Given the description of an element on the screen output the (x, y) to click on. 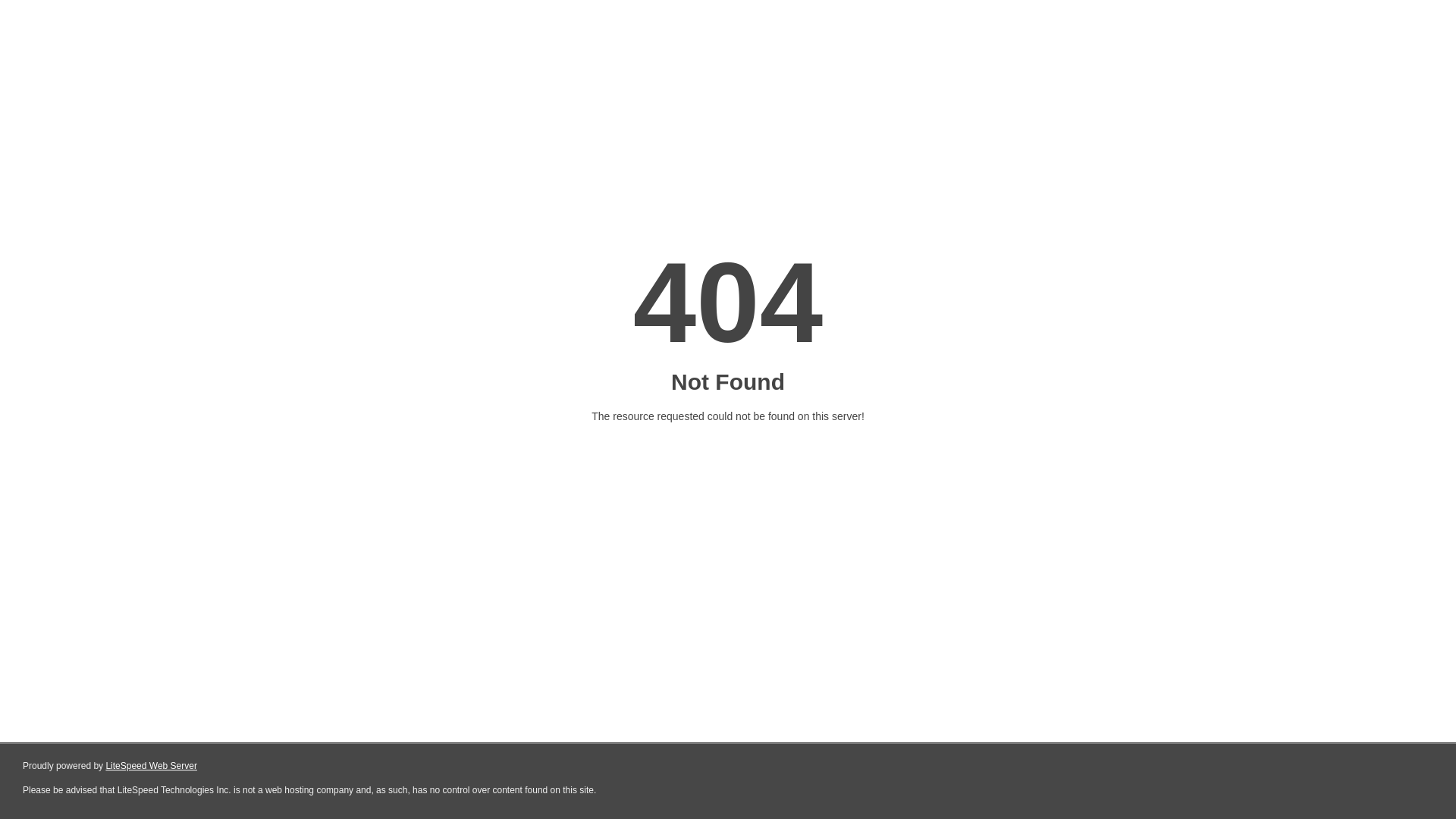
LiteSpeed Web Server Element type: text (151, 765)
